Given the description of an element on the screen output the (x, y) to click on. 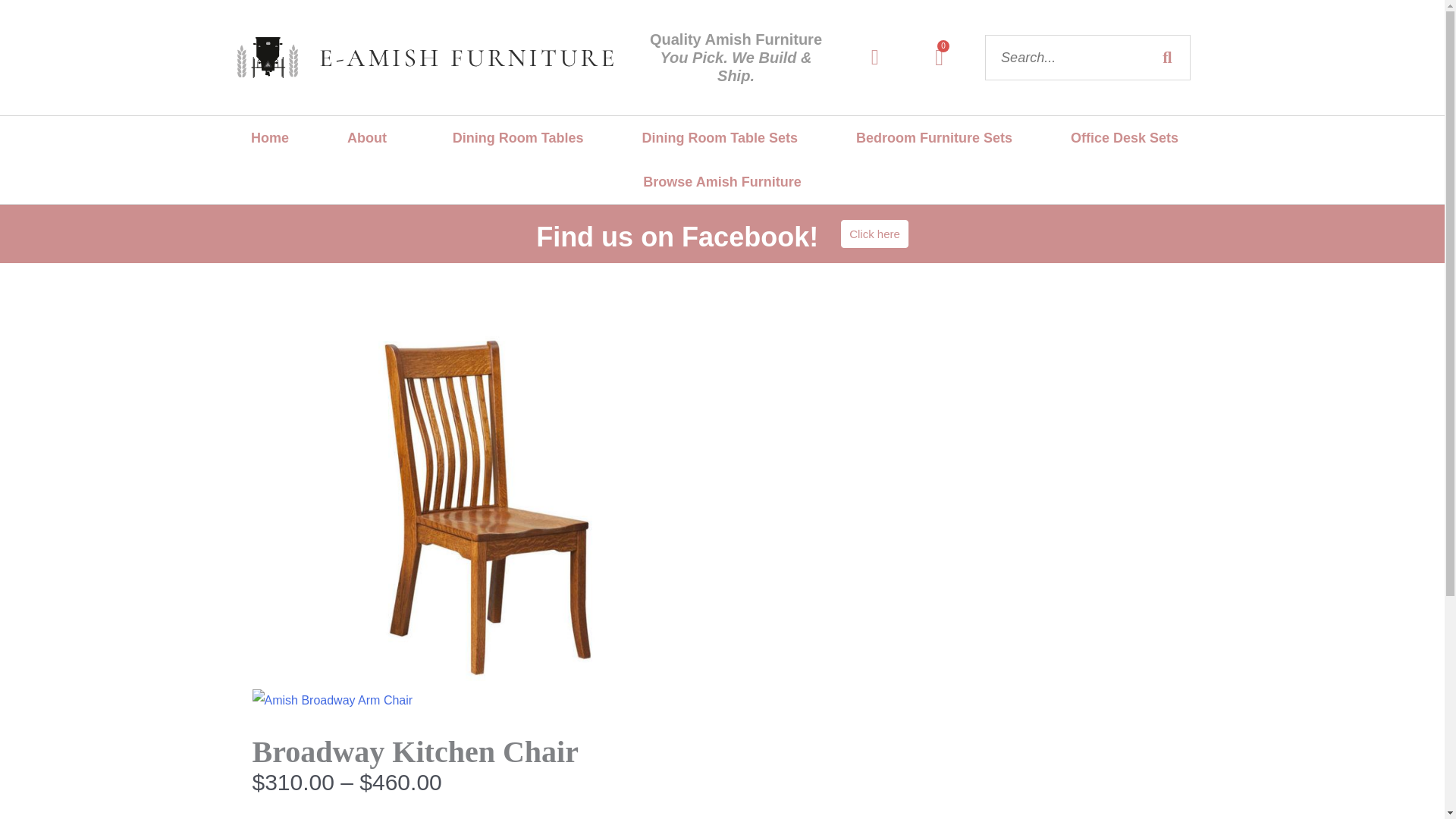
Browse Amish Furniture (721, 181)
Home (269, 137)
Dining Room Table Sets (719, 137)
About (369, 137)
Amish Dining Room Tables (517, 137)
Office Desk Sets (1124, 137)
Dining Room Tables (517, 137)
Bedroom Furniture Sets (939, 57)
Search (933, 137)
